Given the description of an element on the screen output the (x, y) to click on. 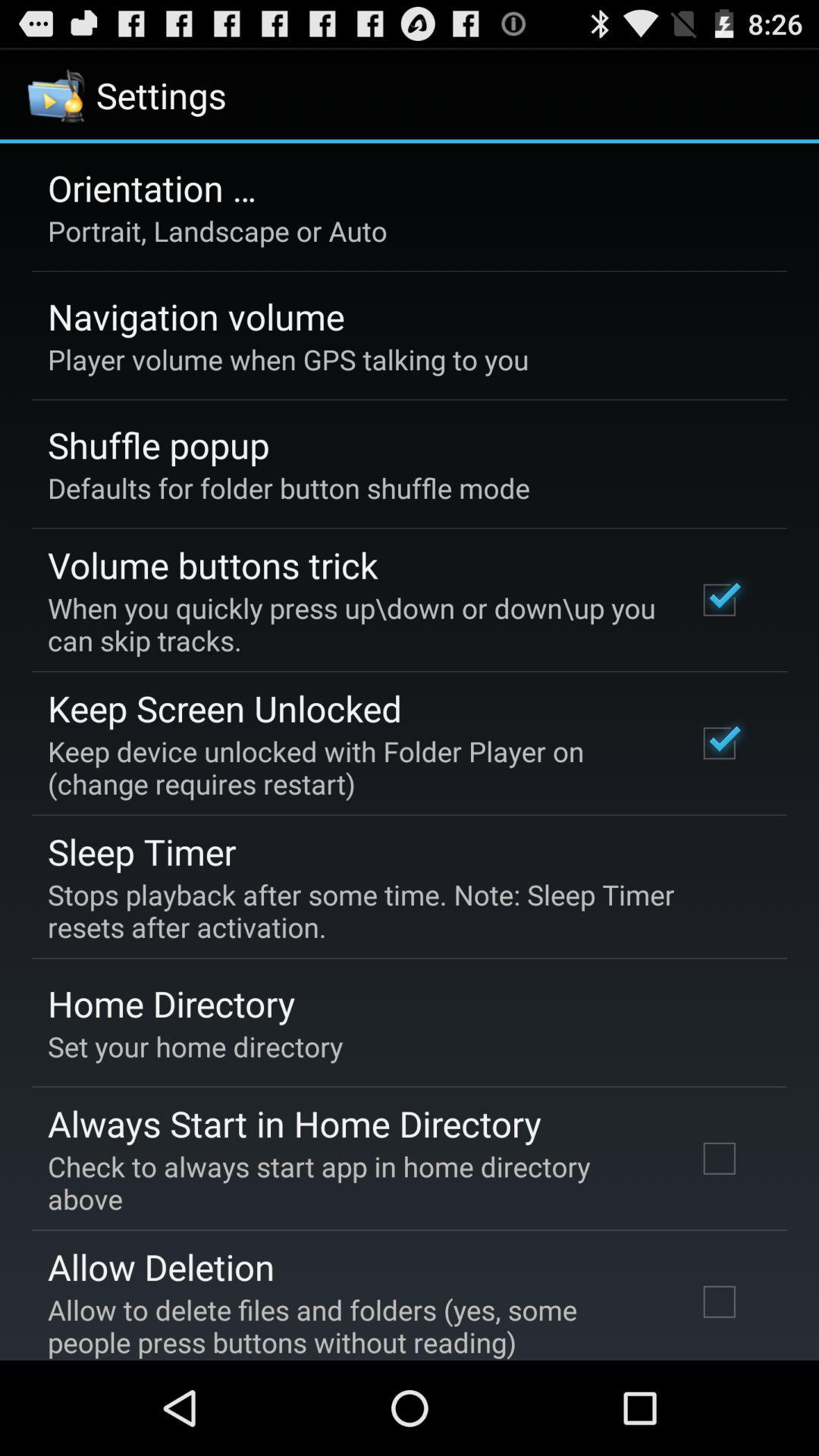
click on image followed with text settings (129, 95)
click on the check box which is to the bottom left corner of the screen (719, 1301)
